Given the description of an element on the screen output the (x, y) to click on. 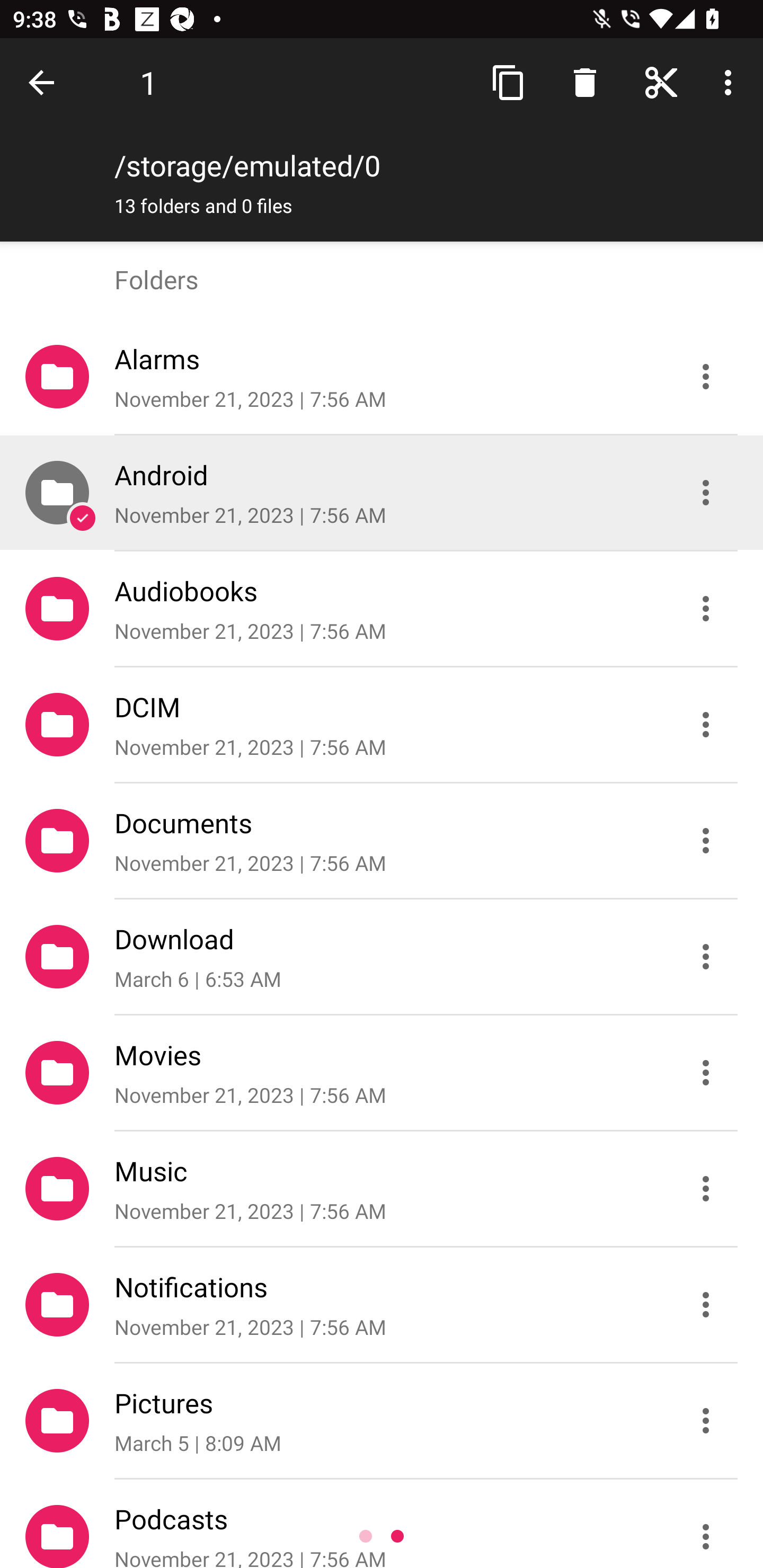
1 (148, 82)
Done (44, 81)
Copy (508, 81)
Search (585, 81)
Home (661, 81)
More options (731, 81)
Alarms November 21, 2023 | 7:56 AM (381, 376)
Android November 21, 2023 | 7:56 AM (381, 492)
Audiobooks November 21, 2023 | 7:56 AM (381, 608)
DCIM November 21, 2023 | 7:56 AM (381, 724)
Documents November 21, 2023 | 7:56 AM (381, 841)
Download March 6 | 6:53 AM (381, 957)
Movies November 21, 2023 | 7:56 AM (381, 1073)
Music November 21, 2023 | 7:56 AM (381, 1189)
Notifications November 21, 2023 | 7:56 AM (381, 1305)
Pictures March 5 | 8:09 AM (381, 1421)
Podcasts November 21, 2023 | 7:56 AM (381, 1524)
